Given the description of an element on the screen output the (x, y) to click on. 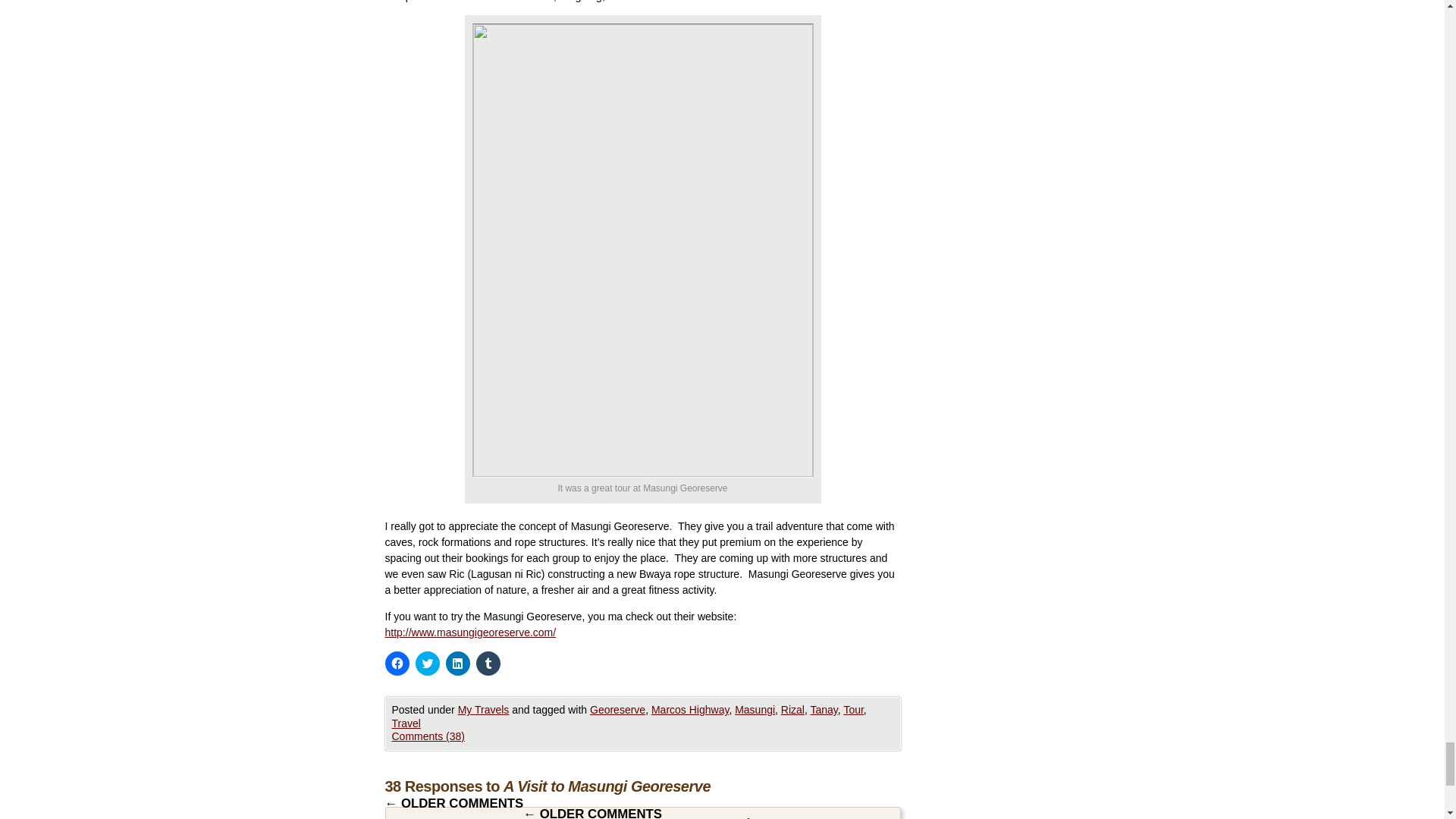
Click to share on Twitter (426, 663)
Georeserve (617, 709)
Rizal (792, 709)
Tanay (824, 709)
Travel (405, 723)
Click to share on Tumblr (488, 663)
Masungi (754, 709)
Tour (853, 709)
Marcos Highway (689, 709)
My Travels (483, 709)
Click to share on Facebook (397, 663)
Click to share on LinkedIn (457, 663)
